Given the description of an element on the screen output the (x, y) to click on. 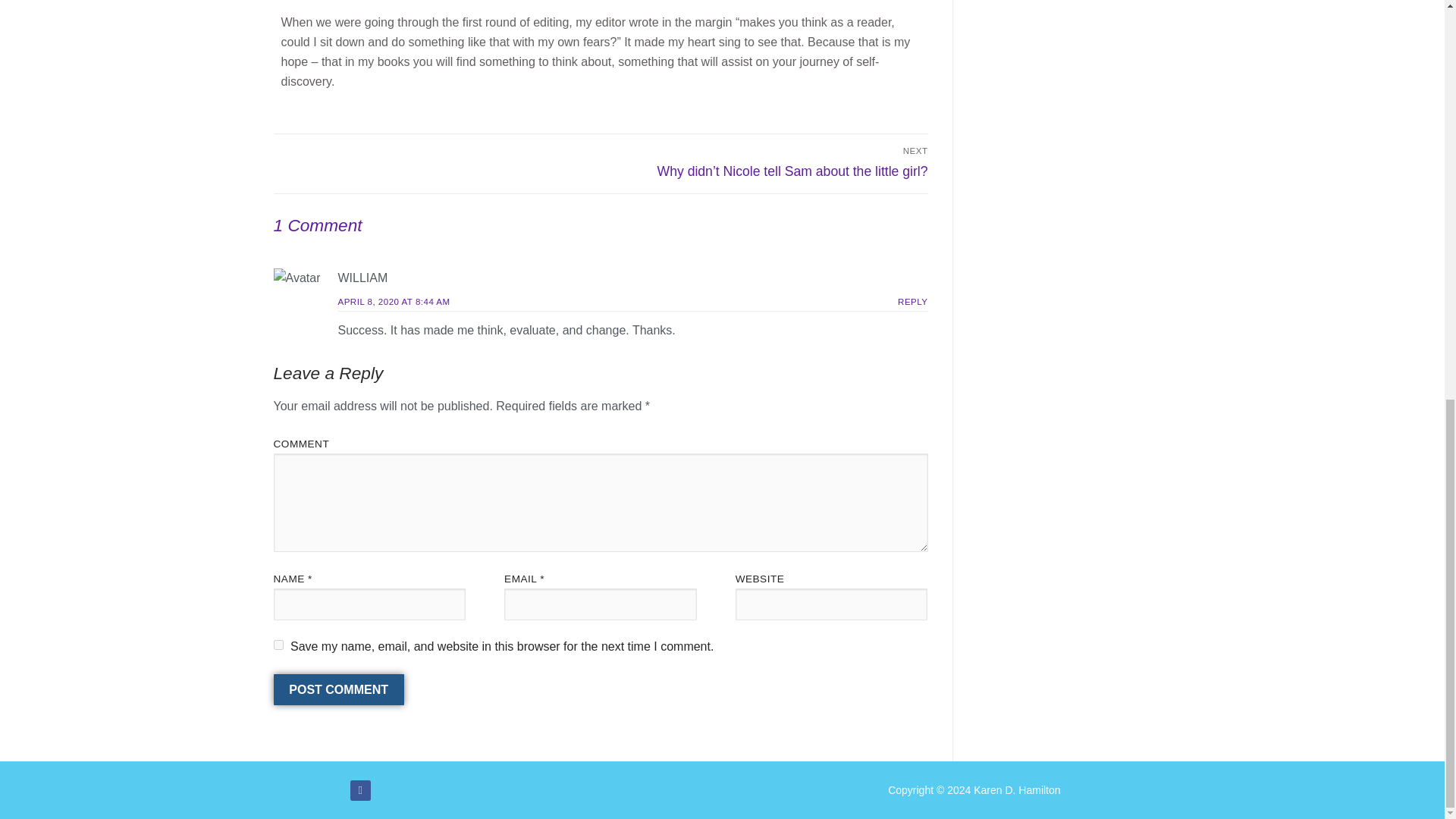
REPLY (912, 301)
yes (277, 644)
Post Comment (338, 689)
APRIL 8, 2020 AT 8:44 AM (393, 301)
Post Comment (338, 689)
Facebook (360, 790)
